Given the description of an element on the screen output the (x, y) to click on. 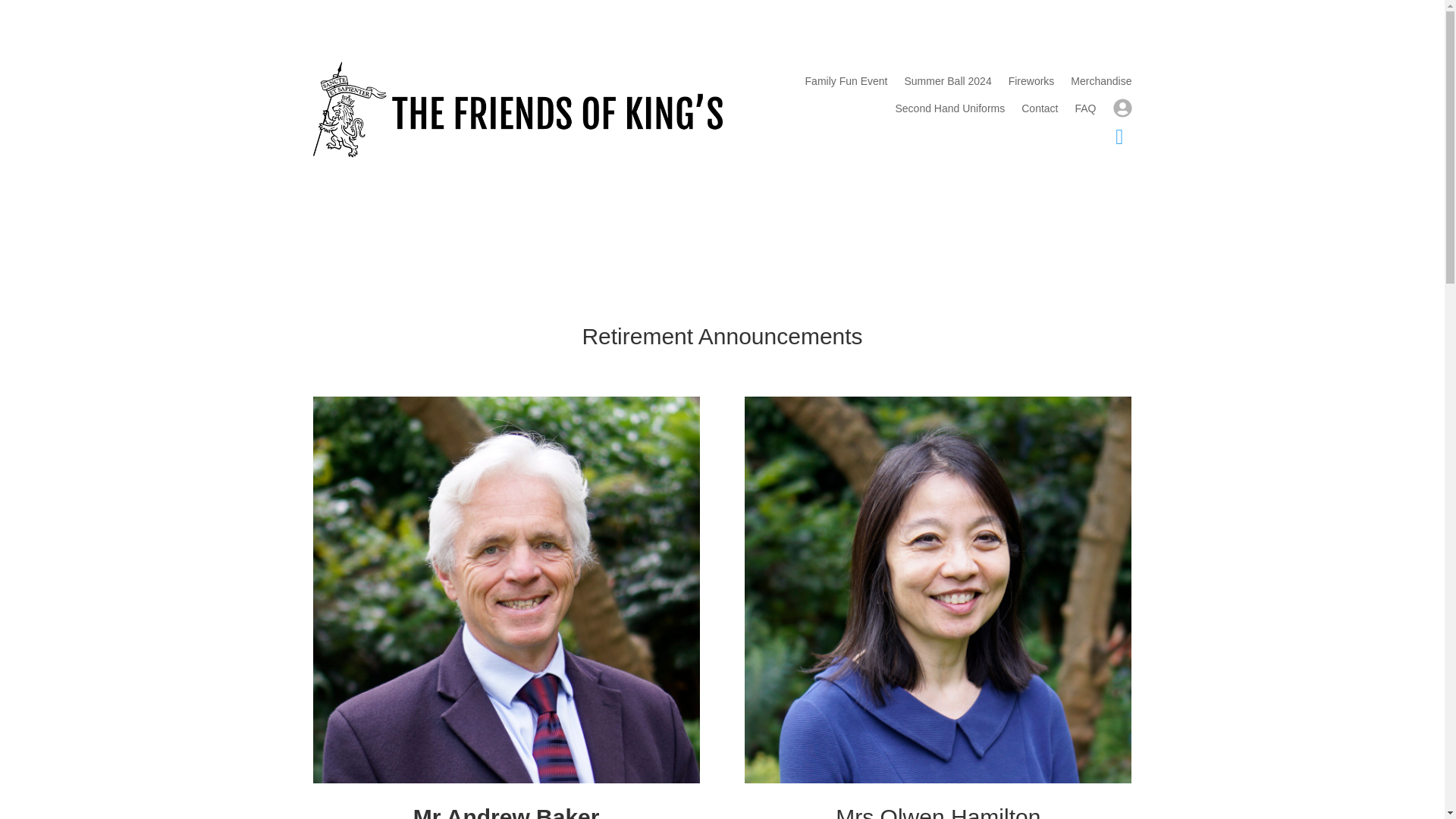
Merchandise (1100, 84)
Family Fun Event (846, 84)
Summer Ball 2024 (947, 84)
Contact (1040, 111)
Fireworks (1031, 84)
FAQ (1085, 111)
FOKC-logo-v1-small (517, 109)
Second Hand Uniforms (949, 111)
